Given the description of an element on the screen output the (x, y) to click on. 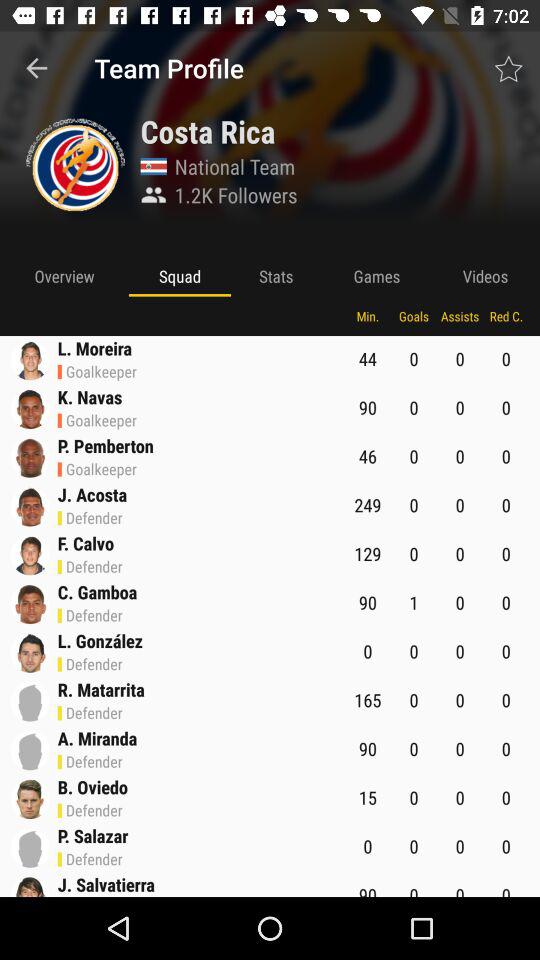
choose the icon to the right of the stats (376, 276)
